Given the description of an element on the screen output the (x, y) to click on. 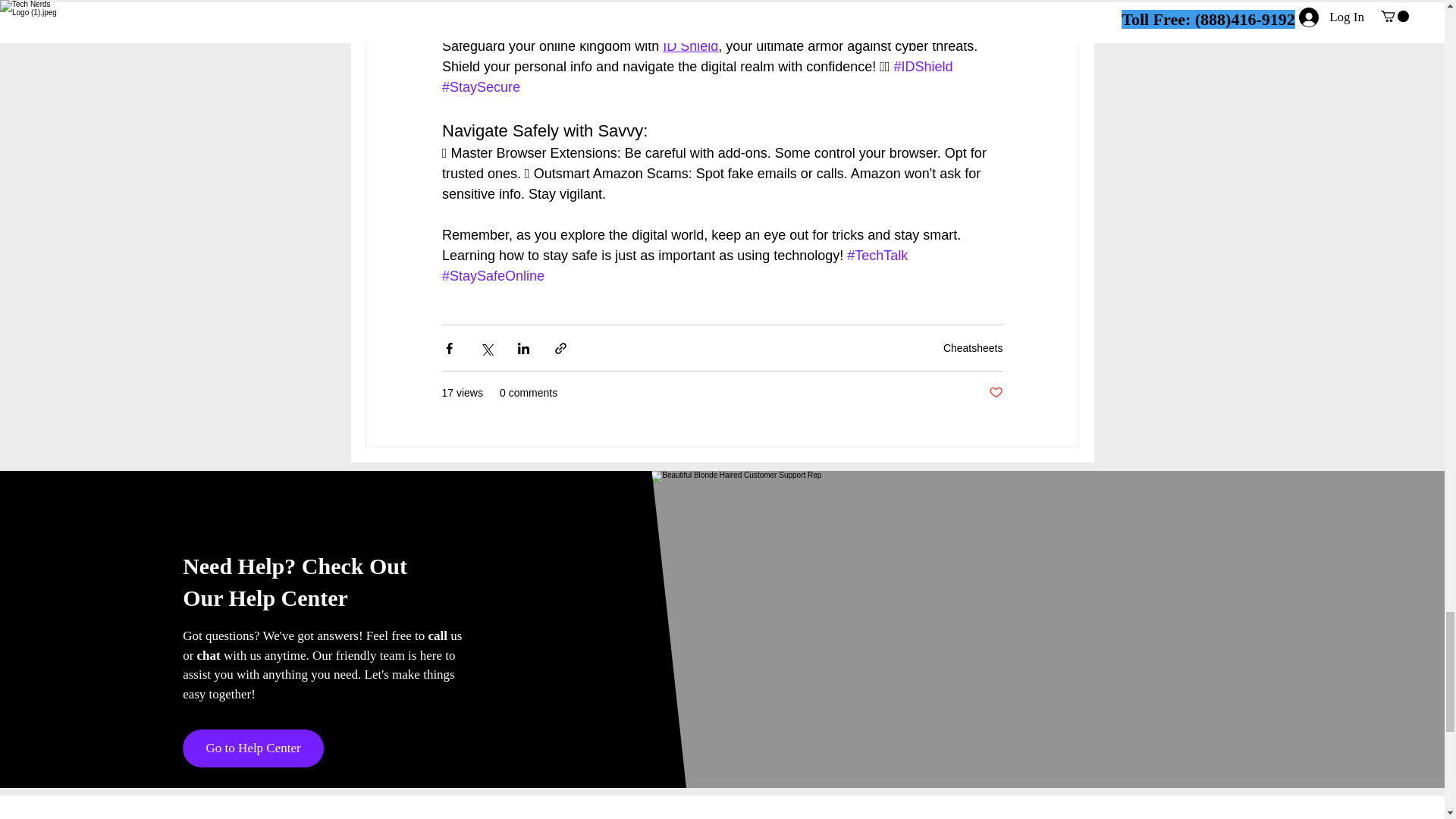
Cheatsheets (973, 347)
Go to Help Center (253, 748)
Post not marked as liked (995, 392)
ID Shield (689, 46)
